Given the description of an element on the screen output the (x, y) to click on. 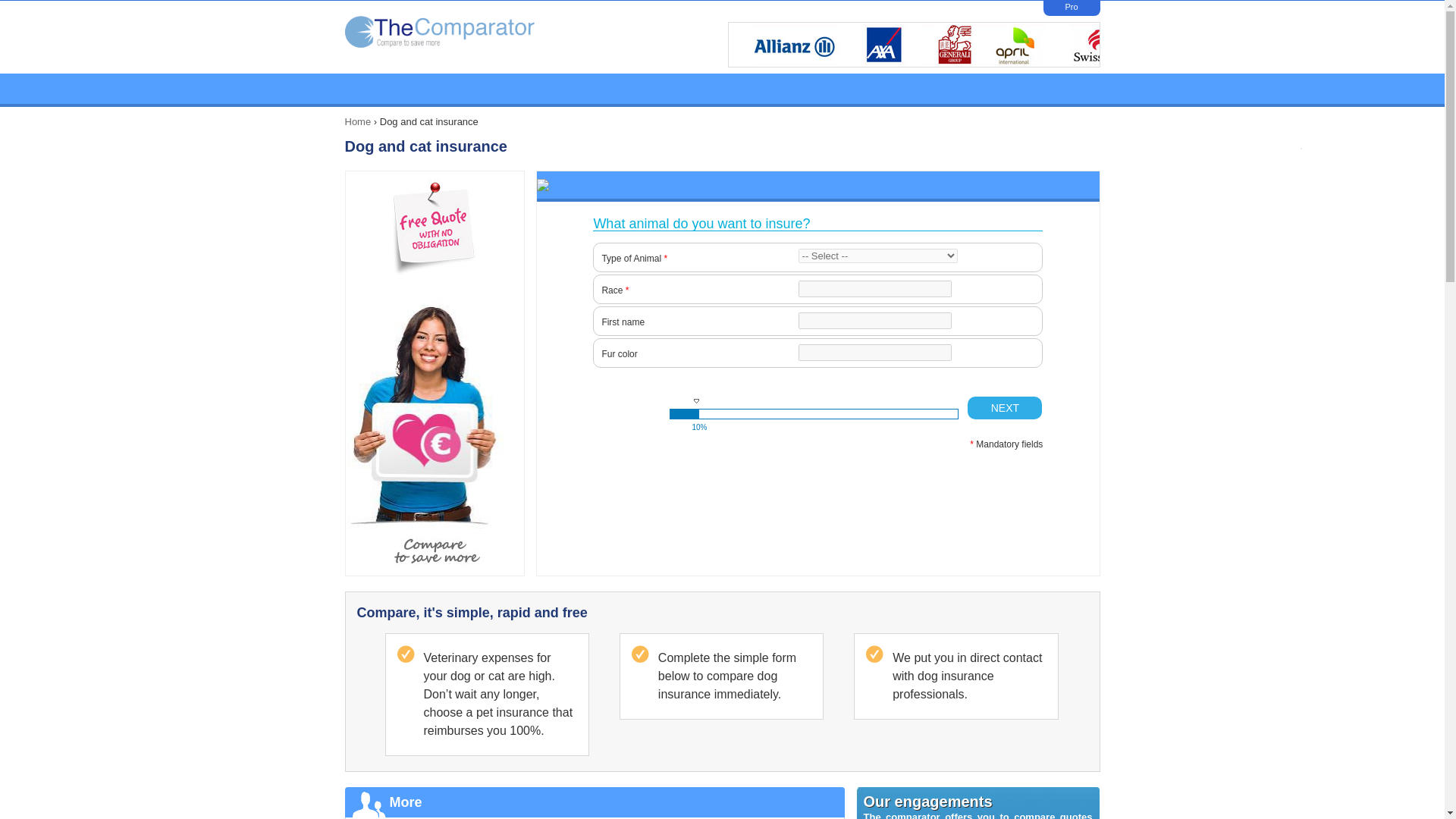
NEXT (1005, 407)
Home (357, 121)
Pro (1070, 6)
